Given the description of an element on the screen output the (x, y) to click on. 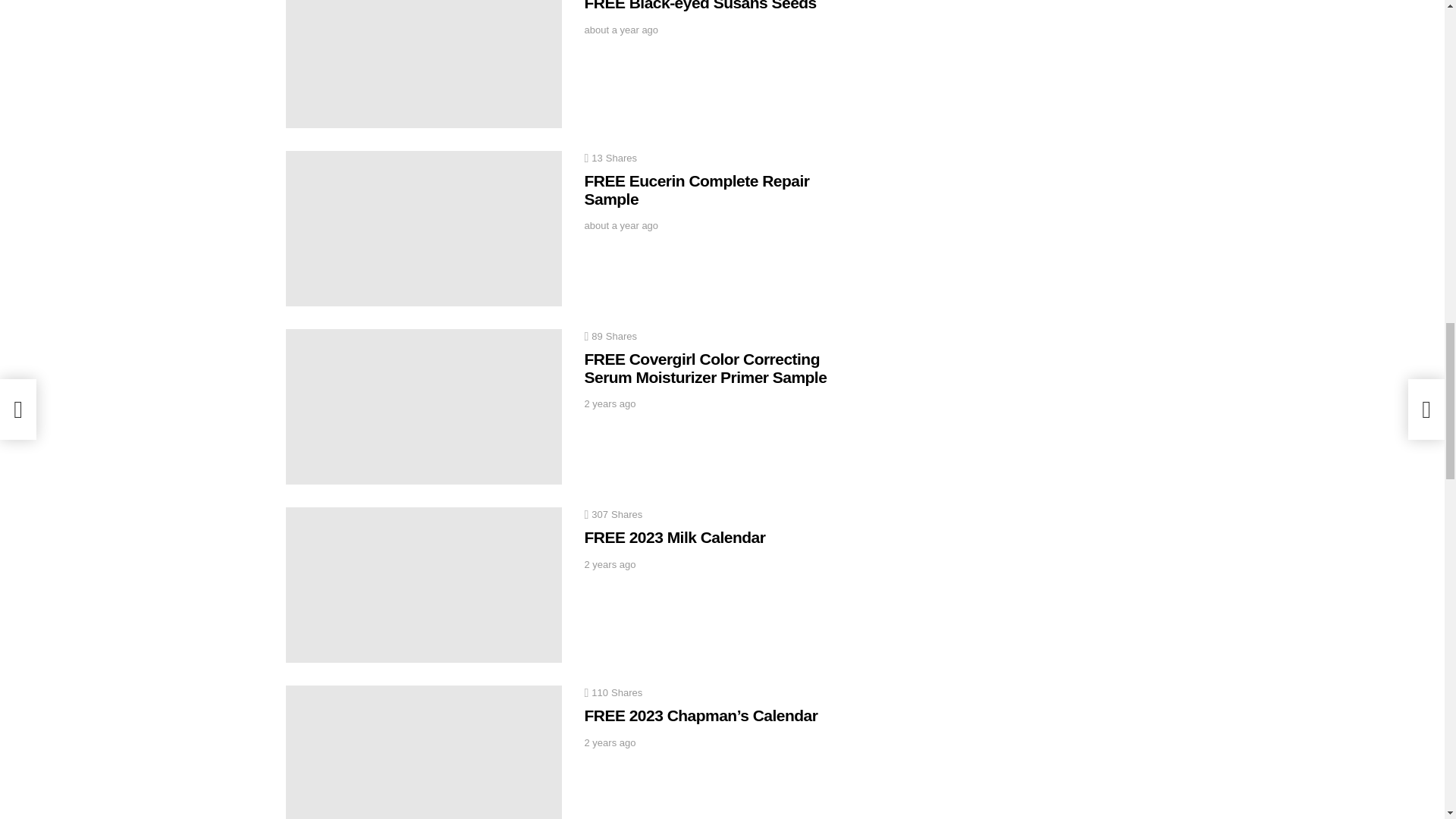
April 4, 2023, 6:56 pm (620, 225)
FREE Black-eyed Susans Seeds (422, 63)
April 6, 2023, 10:25 am (620, 30)
FREE Eucerin Complete Repair Sample (422, 228)
